Given the description of an element on the screen output the (x, y) to click on. 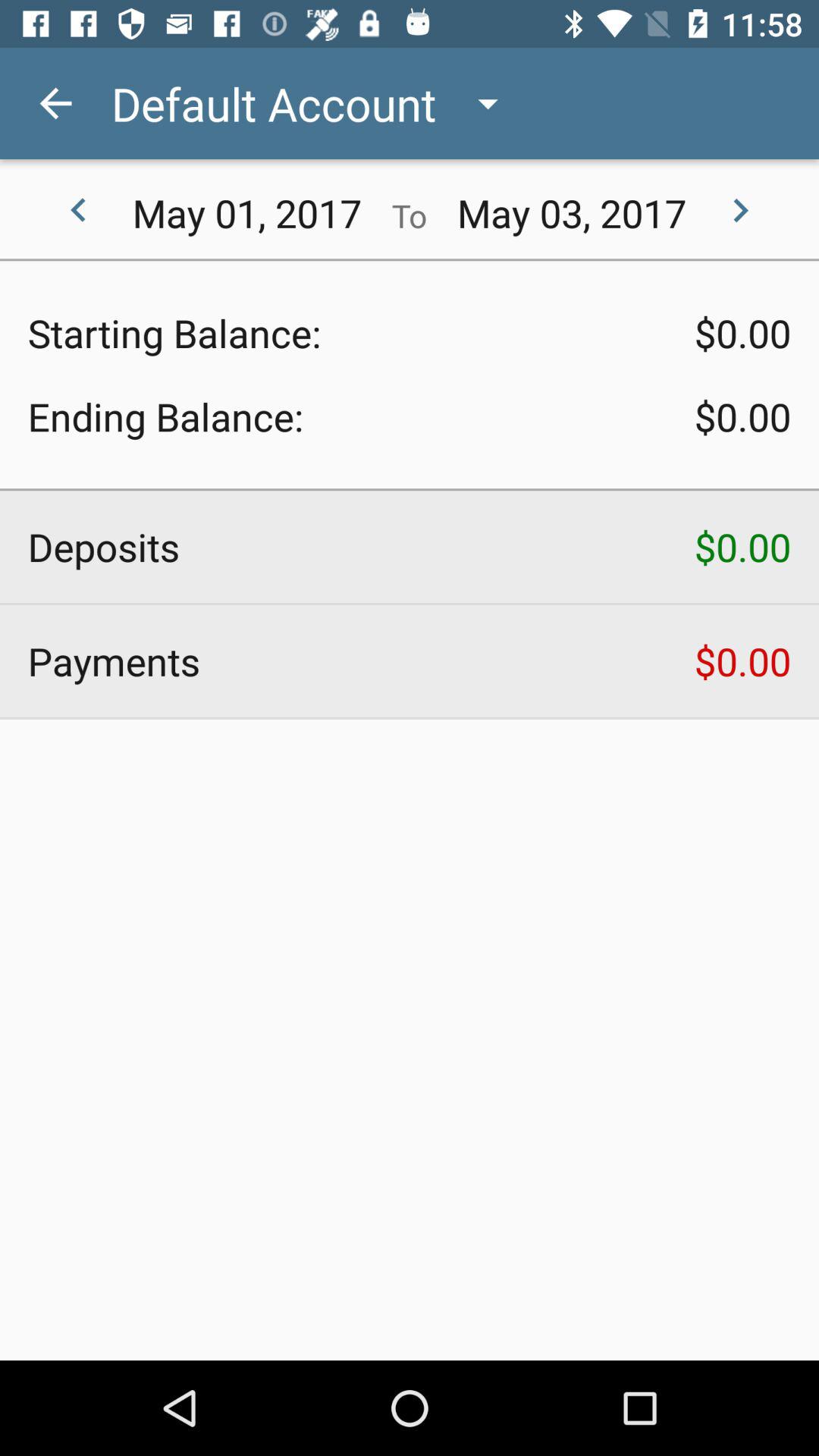
turn off the icon to the right of may 03, 2017 (740, 210)
